Given the description of an element on the screen output the (x, y) to click on. 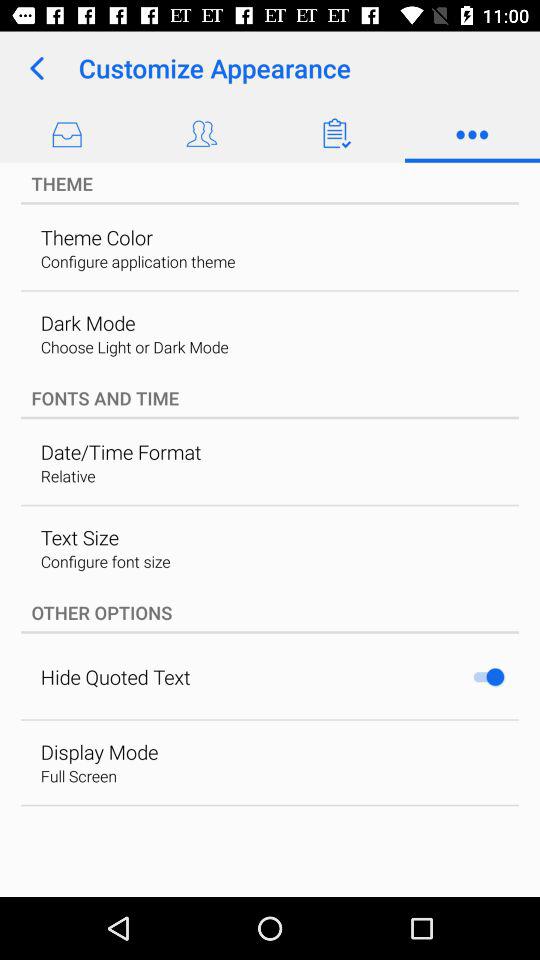
click the item at the bottom right corner (488, 676)
